Given the description of an element on the screen output the (x, y) to click on. 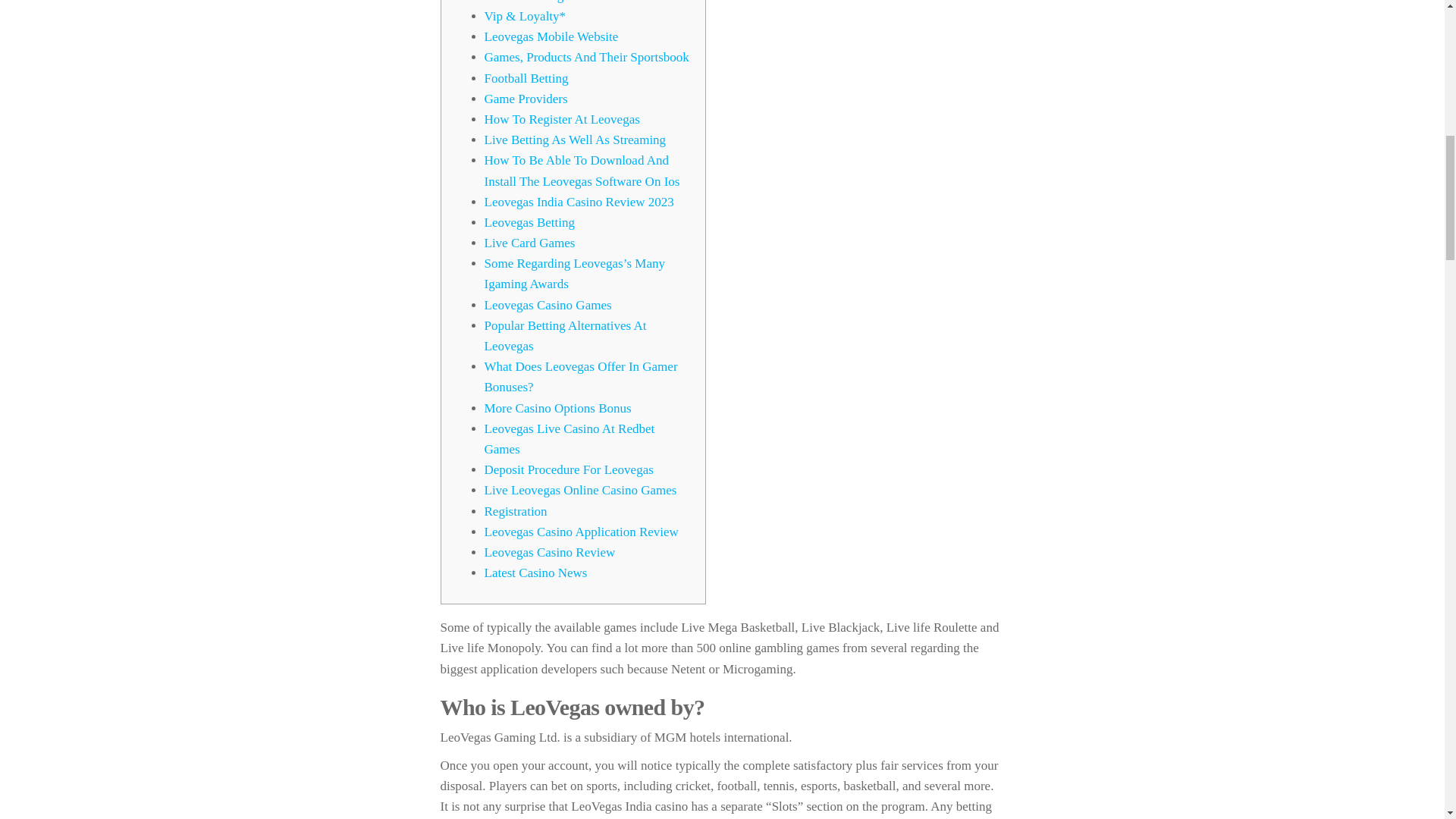
Registration (515, 511)
Leovegas Casino Games (547, 305)
Leovegas Casino Application Review (580, 531)
Game Providers (525, 98)
Deposit Procedure For Leovegas (567, 469)
What Does Leovegas Offer In Gamer Bonuses? (580, 376)
Leovegas India Casino Review 2023 (577, 201)
Leovegas Casino Review (548, 552)
More Casino Options Bonus (556, 408)
How Is Leovegas Accredited? (561, 1)
